Given the description of an element on the screen output the (x, y) to click on. 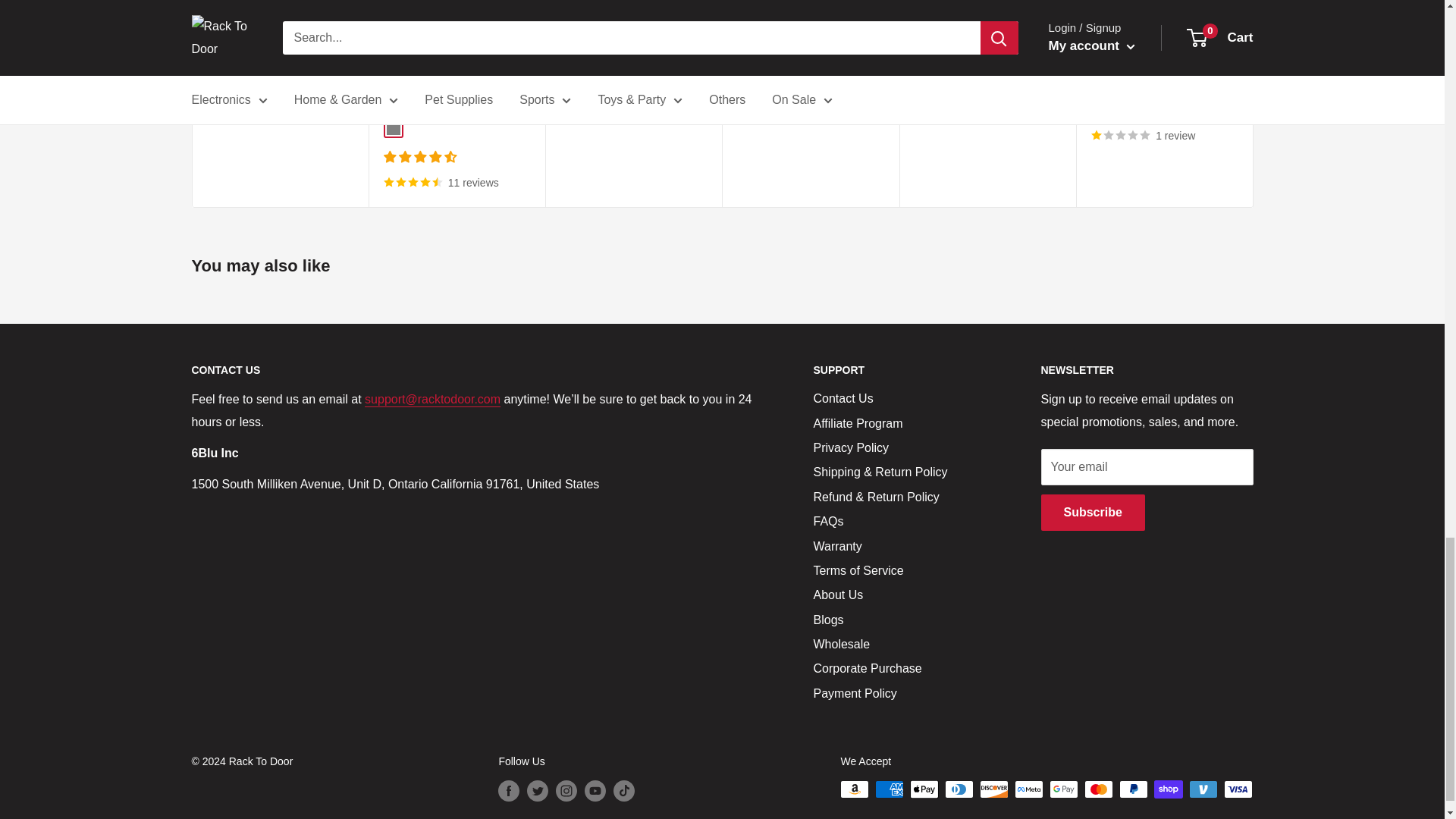
Grey (393, 128)
Black (746, 74)
White (769, 74)
